Given the description of an element on the screen output the (x, y) to click on. 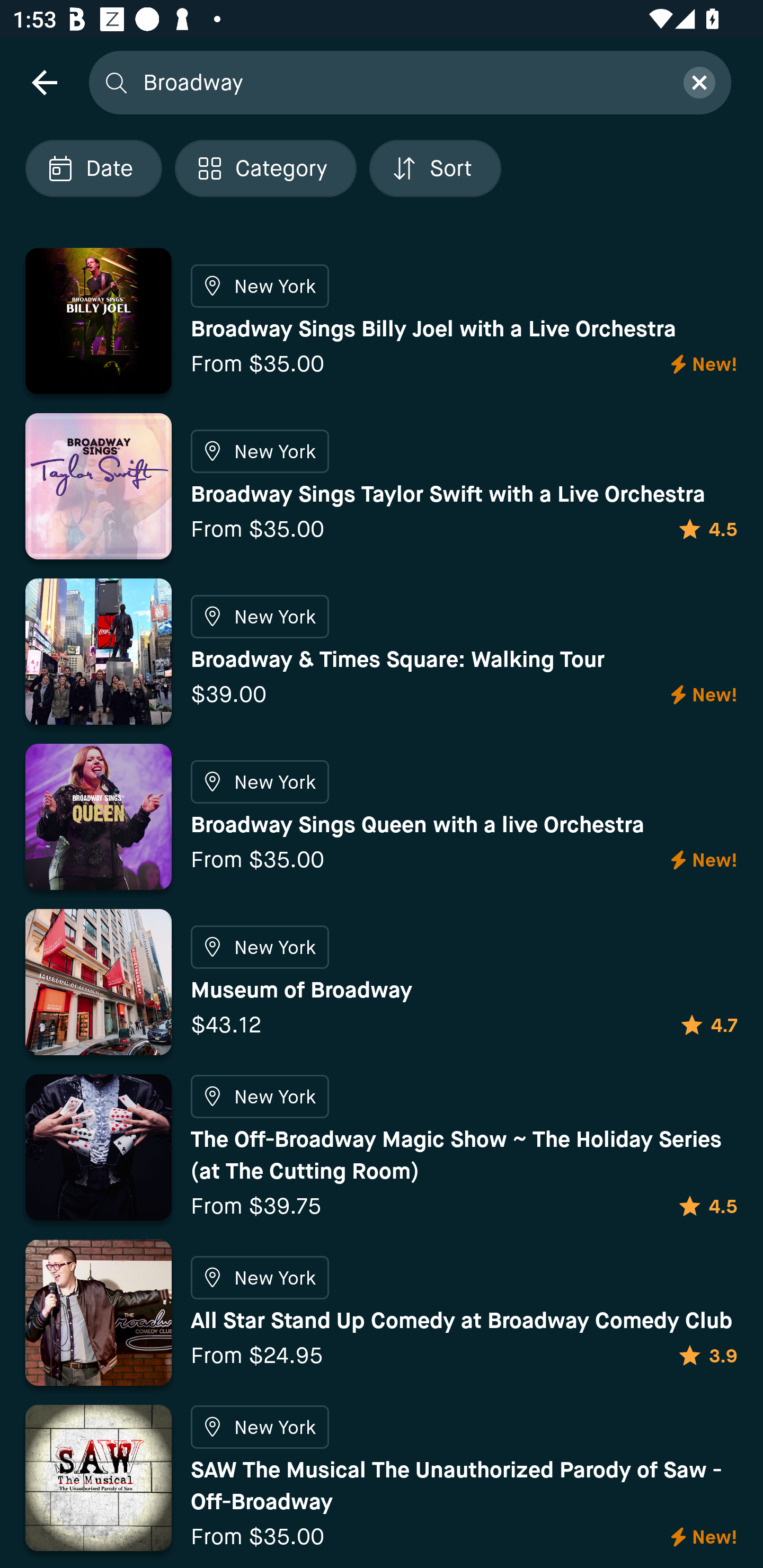
navigation icon (44, 81)
Broadway (402, 81)
Localized description Date (93, 168)
Localized description Category (265, 168)
Localized description Sort (435, 168)
